Given the description of an element on the screen output the (x, y) to click on. 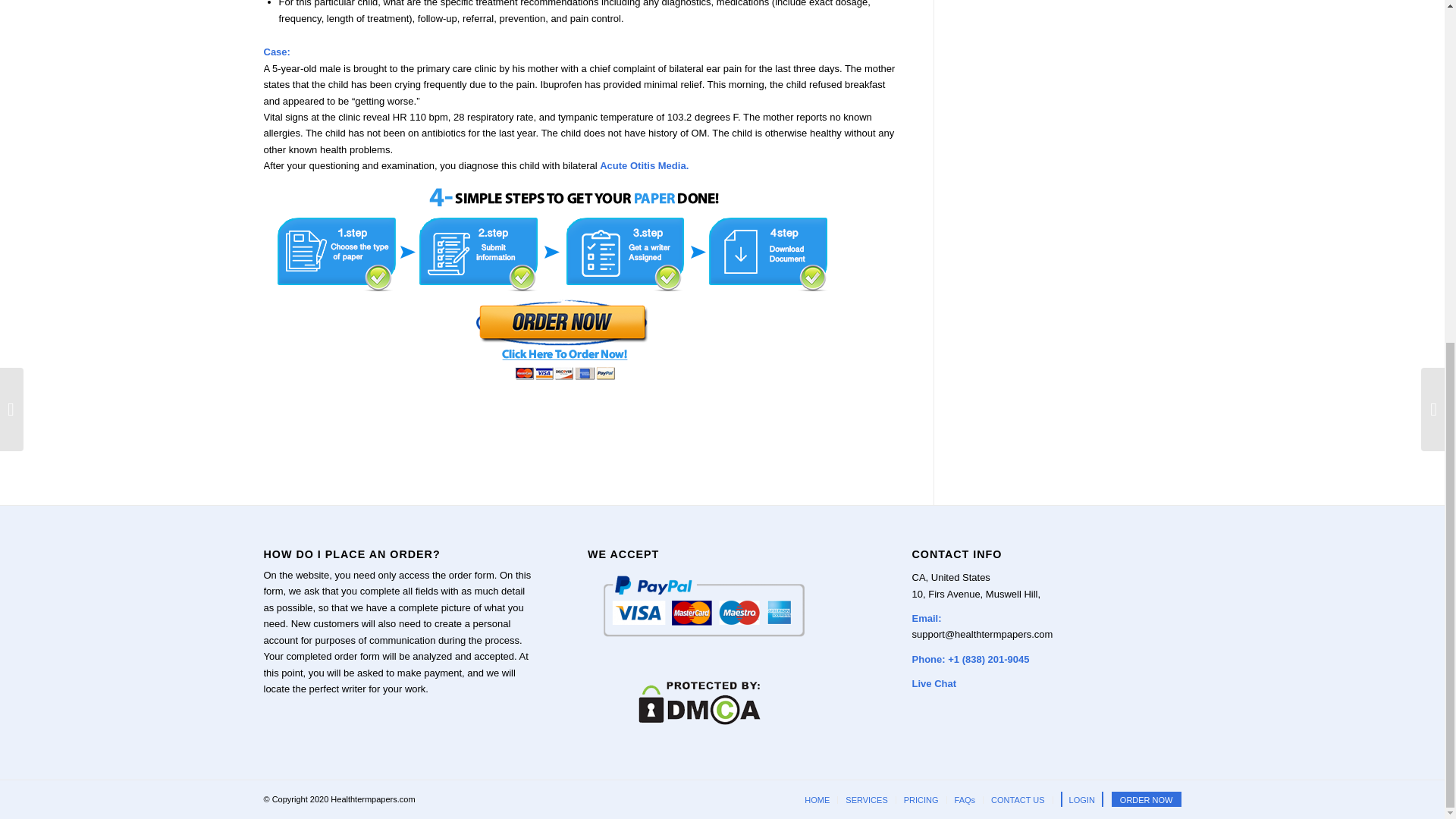
PRICING (921, 799)
FAQs (965, 799)
SERVICES (865, 799)
HOME (817, 799)
CONTACT US (1018, 799)
ORDER NOW (1146, 800)
LOGIN (1082, 800)
